Given the description of an element on the screen output the (x, y) to click on. 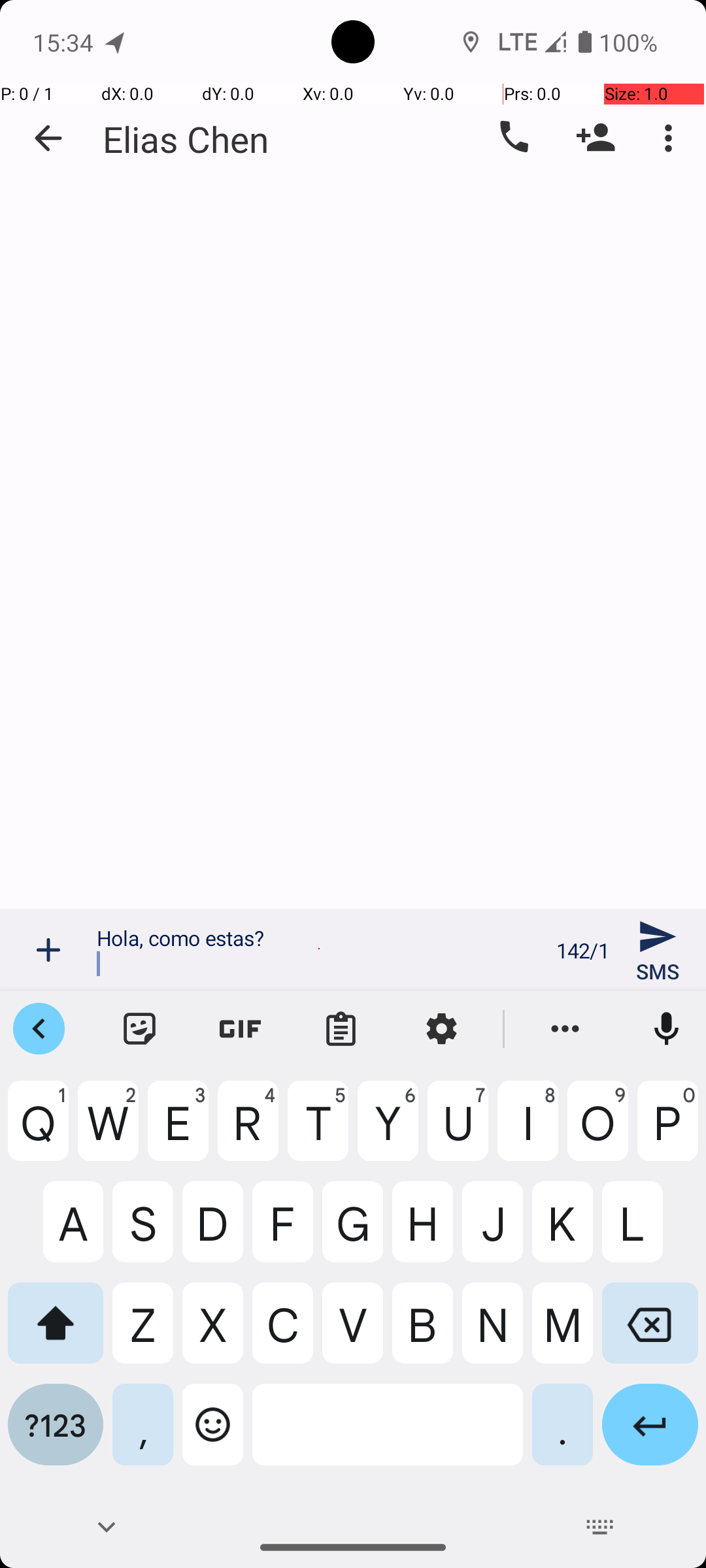
Elias Chen Element type: android.widget.TextView (185, 138)
Marcar número Element type: android.widget.Button (512, 137)
Añadir persona Element type: android.widget.Button (595, 137)
Archivo adjunto Element type: android.widget.ImageView (48, 949)
Hola, como estas?
 Element type: android.widget.EditText (318, 949)
142/1 Element type: android.widget.TextView (582, 950)
